Given the description of an element on the screen output the (x, y) to click on. 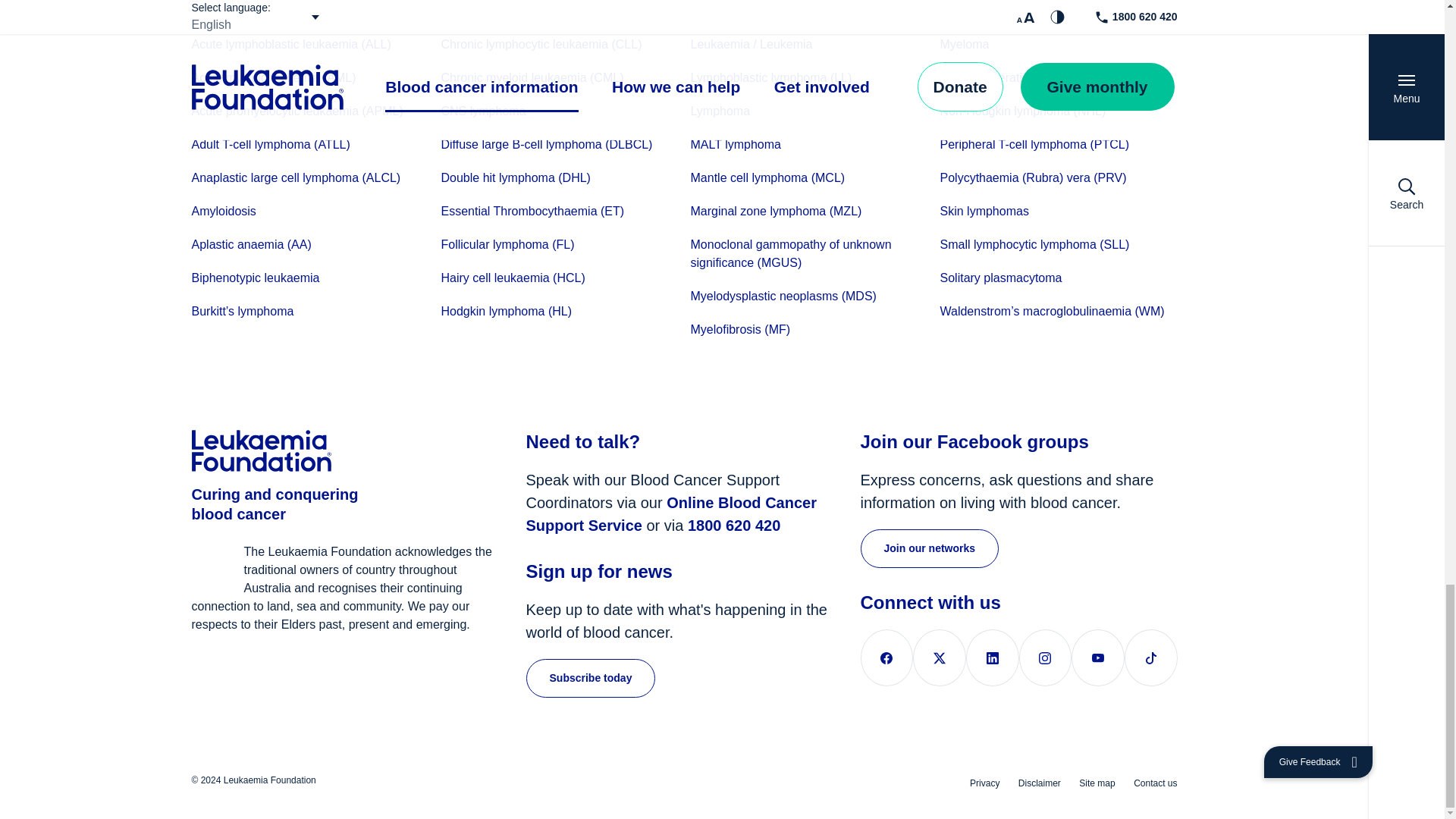
Instagram (1045, 657)
LinkedIn (992, 657)
TikTok (1150, 657)
YouTube (1097, 657)
Facebook (886, 657)
Leukaemia Foundation -  (343, 452)
Twitter X (939, 657)
